Given the description of an element on the screen output the (x, y) to click on. 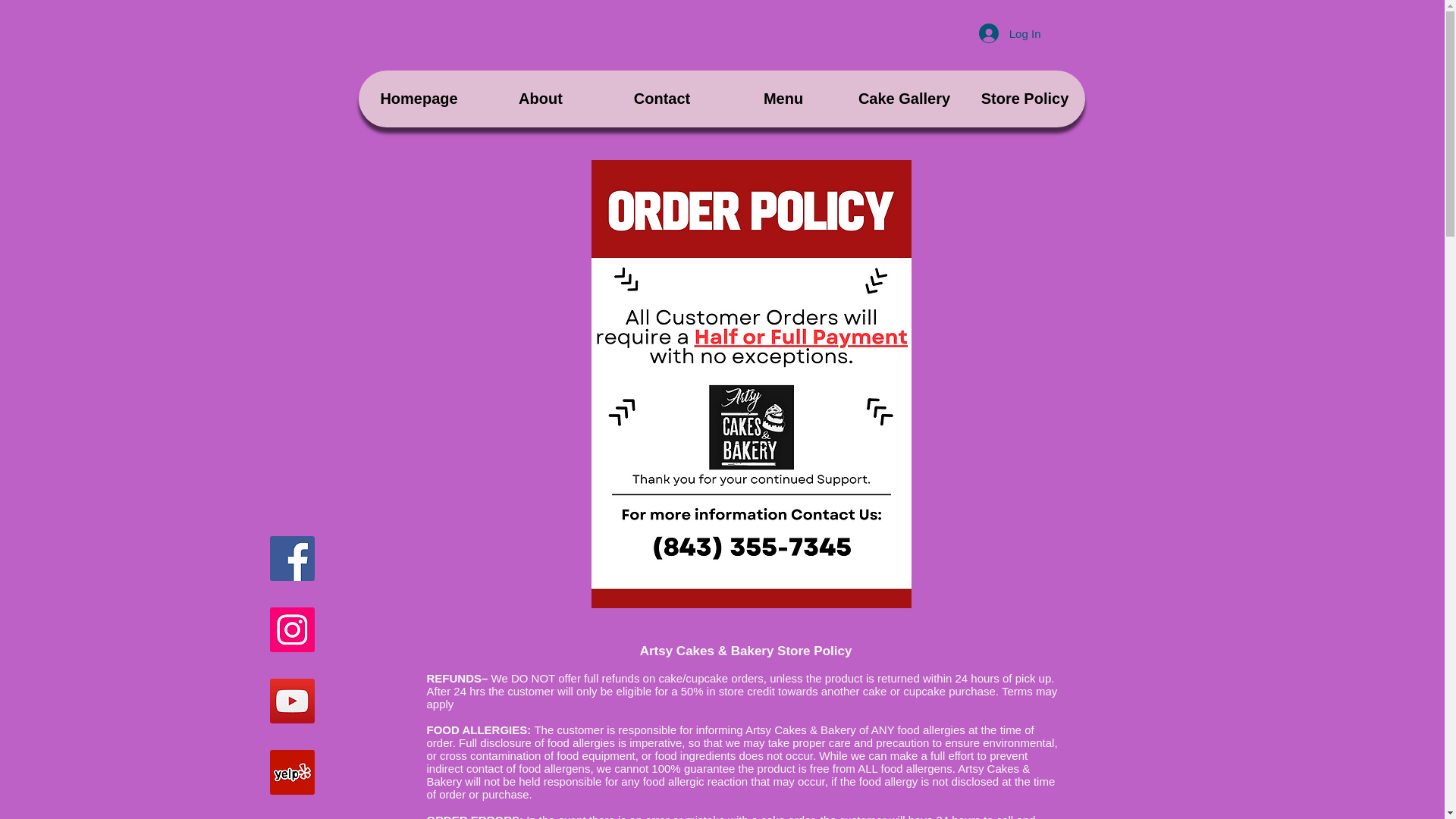
Log In (1009, 32)
Cake Gallery (903, 98)
Store Policy (1023, 98)
Contact (660, 98)
About (539, 98)
Homepage (418, 98)
Menu (782, 98)
